Given the description of an element on the screen output the (x, y) to click on. 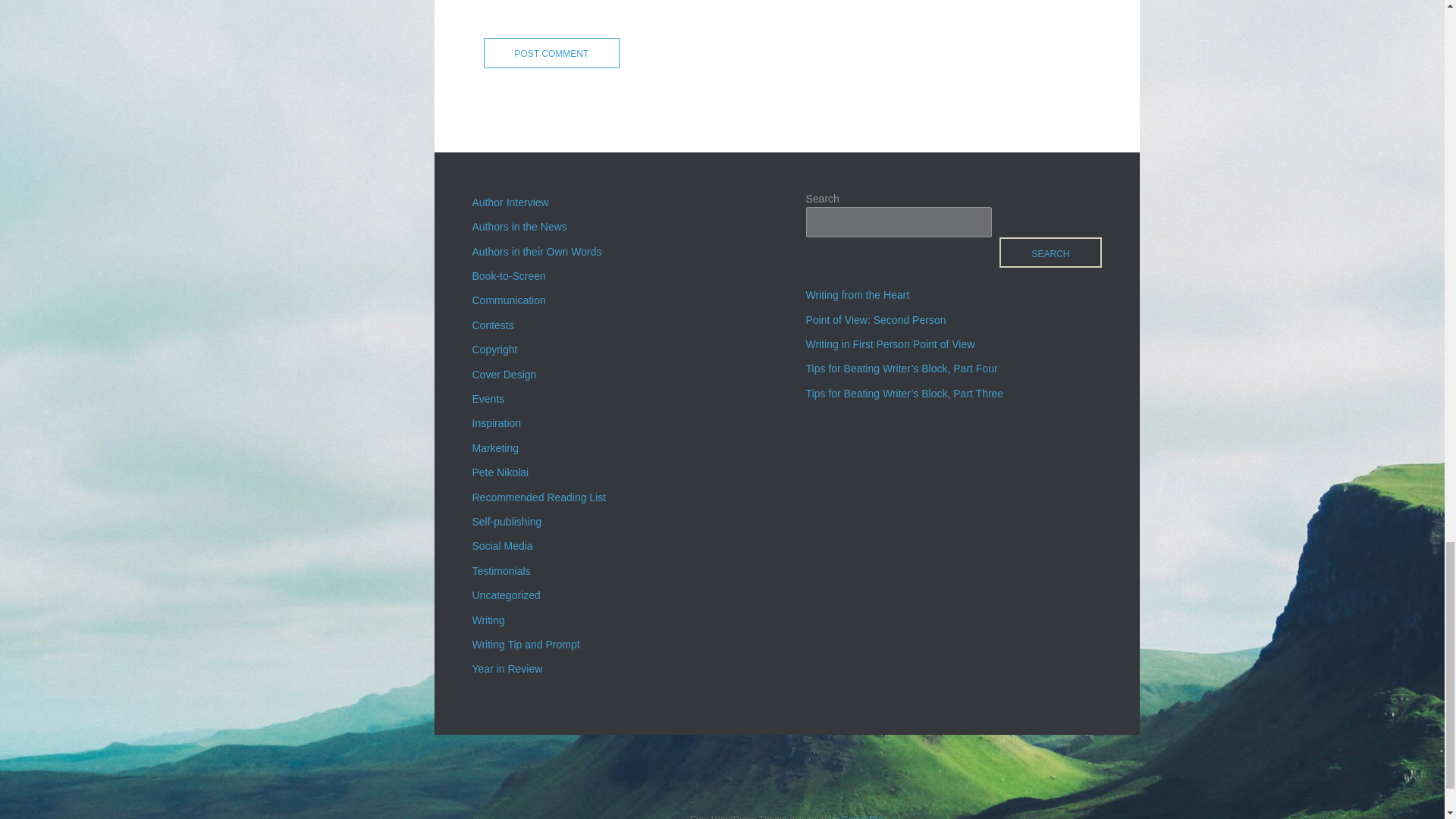
Inspiration (496, 422)
Post Comment (551, 52)
Contests (492, 325)
Post Comment (551, 52)
Authors in the News (518, 226)
Cover Design (503, 374)
Authors in their Own Words (536, 251)
Marketing (494, 448)
Events (487, 398)
Communication (507, 300)
Author Interview (509, 202)
Book-to-Screen (507, 275)
Copyright (493, 349)
